Given the description of an element on the screen output the (x, y) to click on. 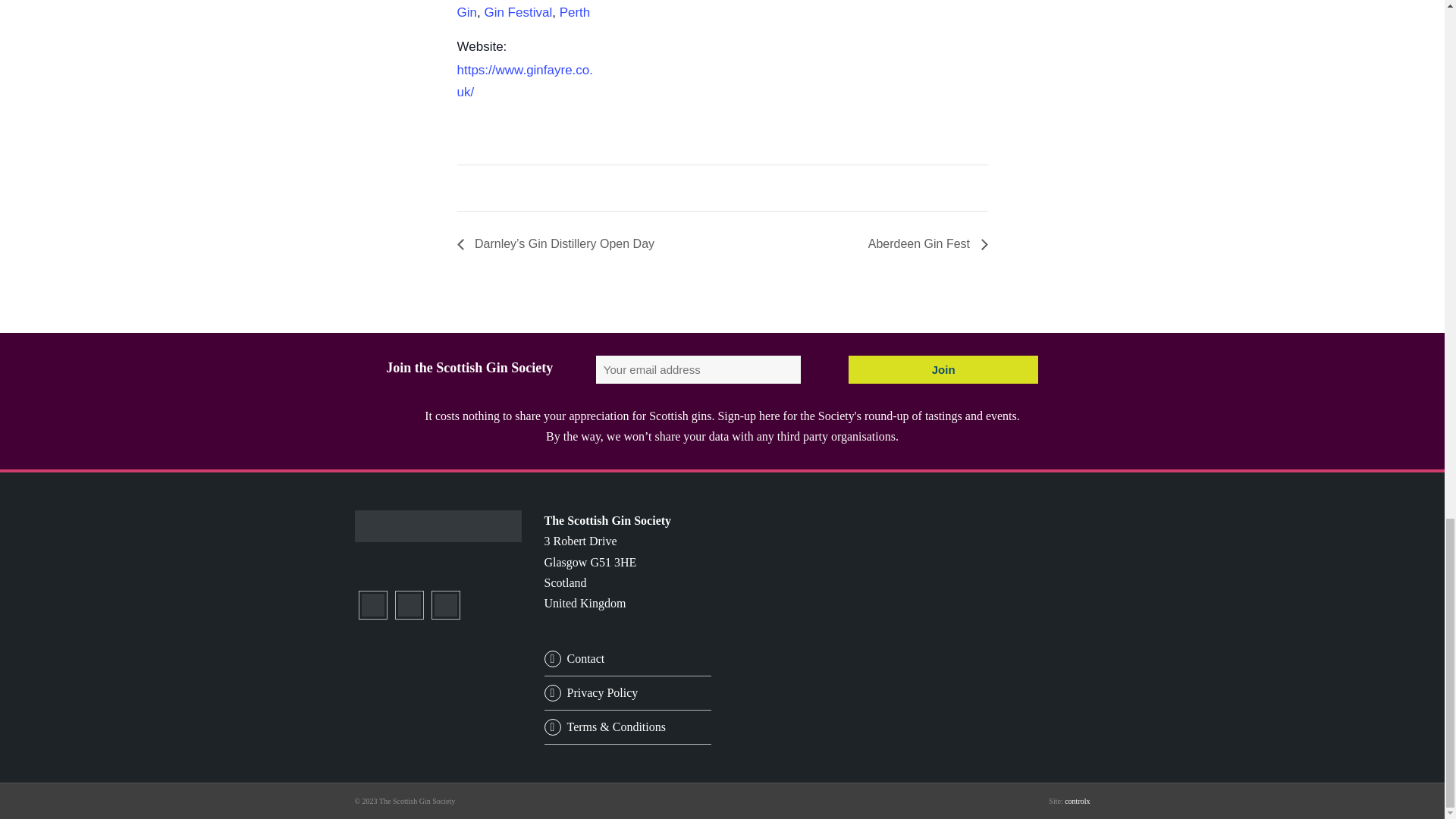
Join (943, 368)
Join (943, 368)
Aberdeen Gin Fest (924, 243)
Perth (575, 11)
Gin Festival (517, 11)
Gin (466, 11)
